Given the description of an element on the screen output the (x, y) to click on. 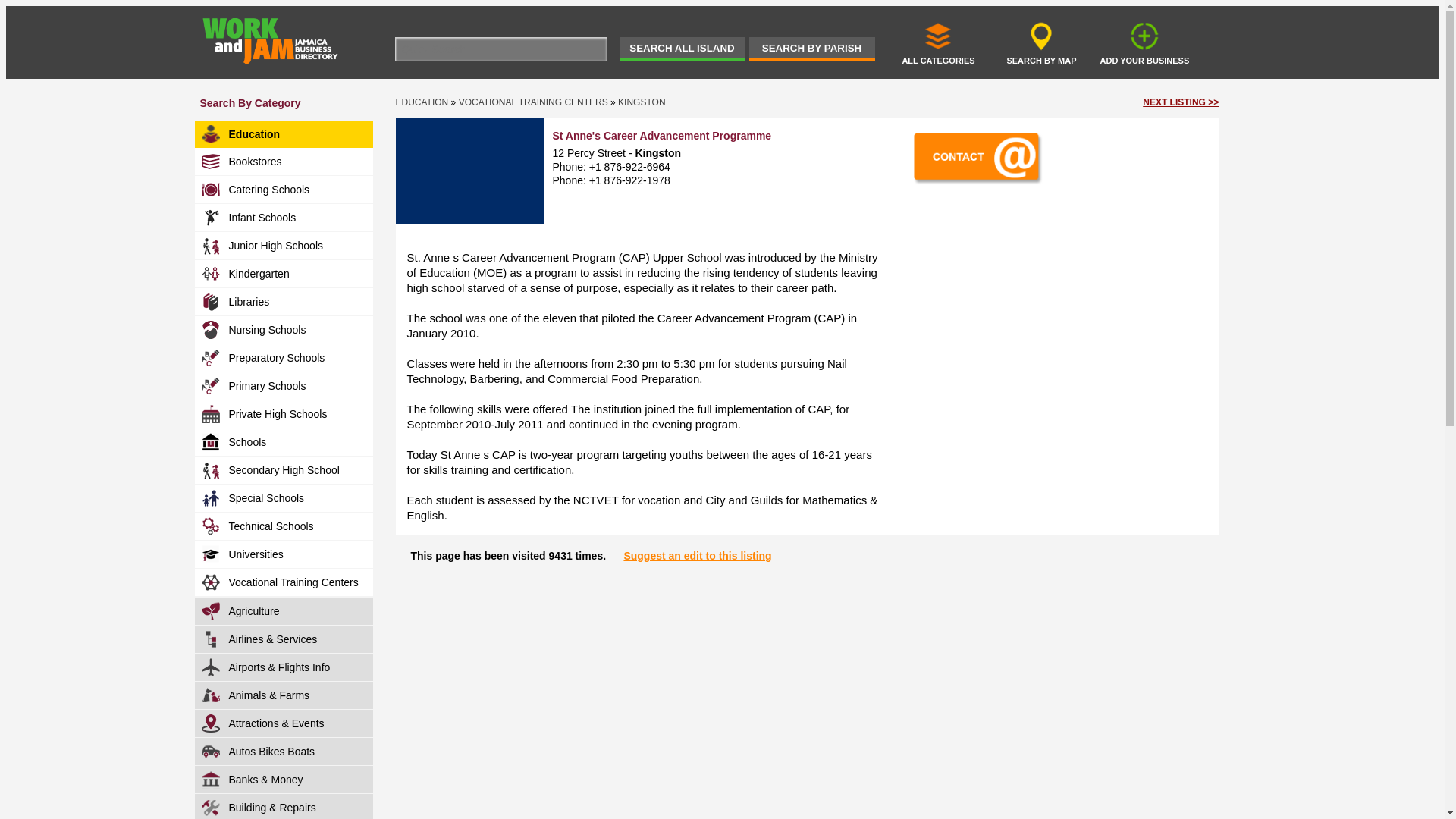
SEARCH ALL ISLAND (681, 48)
SEARCH BY MAP (1041, 41)
ADD YOUR BUSINESS (1144, 41)
SEARCH BY PARISH (812, 48)
ALL CATEGORIES (938, 41)
